Given the description of an element on the screen output the (x, y) to click on. 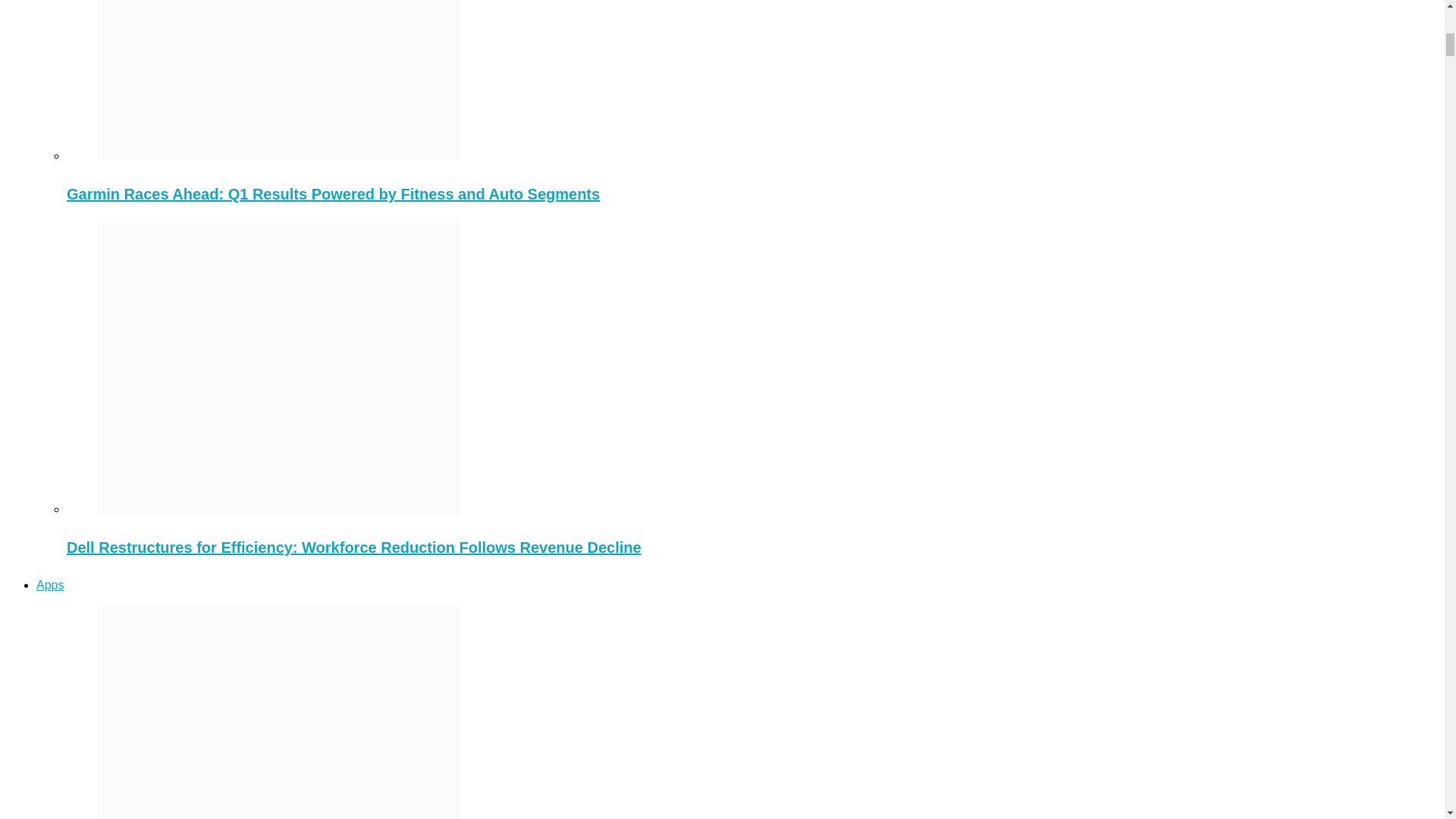
Apps (50, 584)
